Given the description of an element on the screen output the (x, y) to click on. 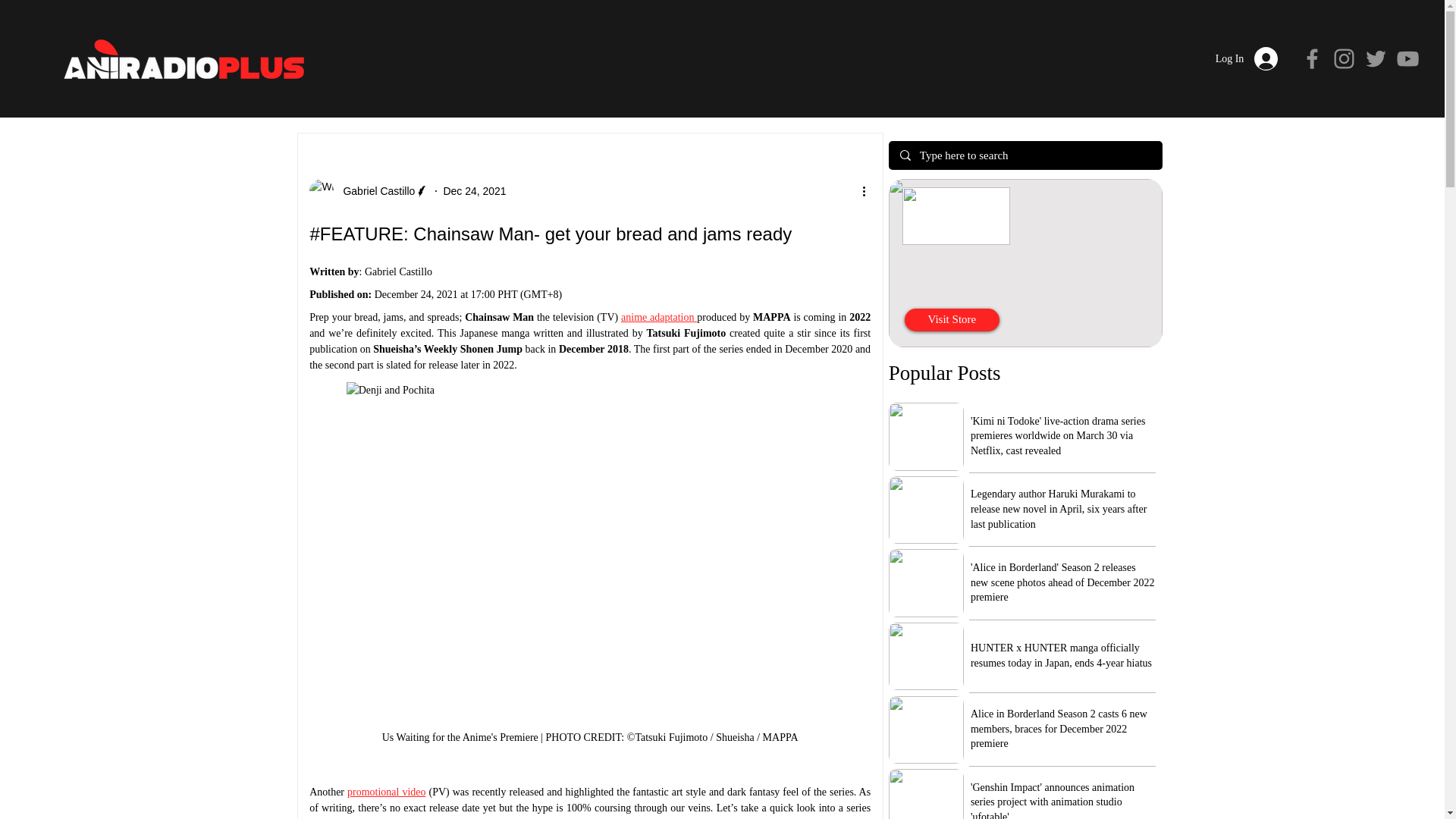
Dec 24, 2021 (473, 191)
Gabriel Castillo (373, 191)
anime adaptation  (659, 317)
promotional video (386, 791)
Gabriel Castillo (368, 191)
Log In (1246, 58)
